Given the description of an element on the screen output the (x, y) to click on. 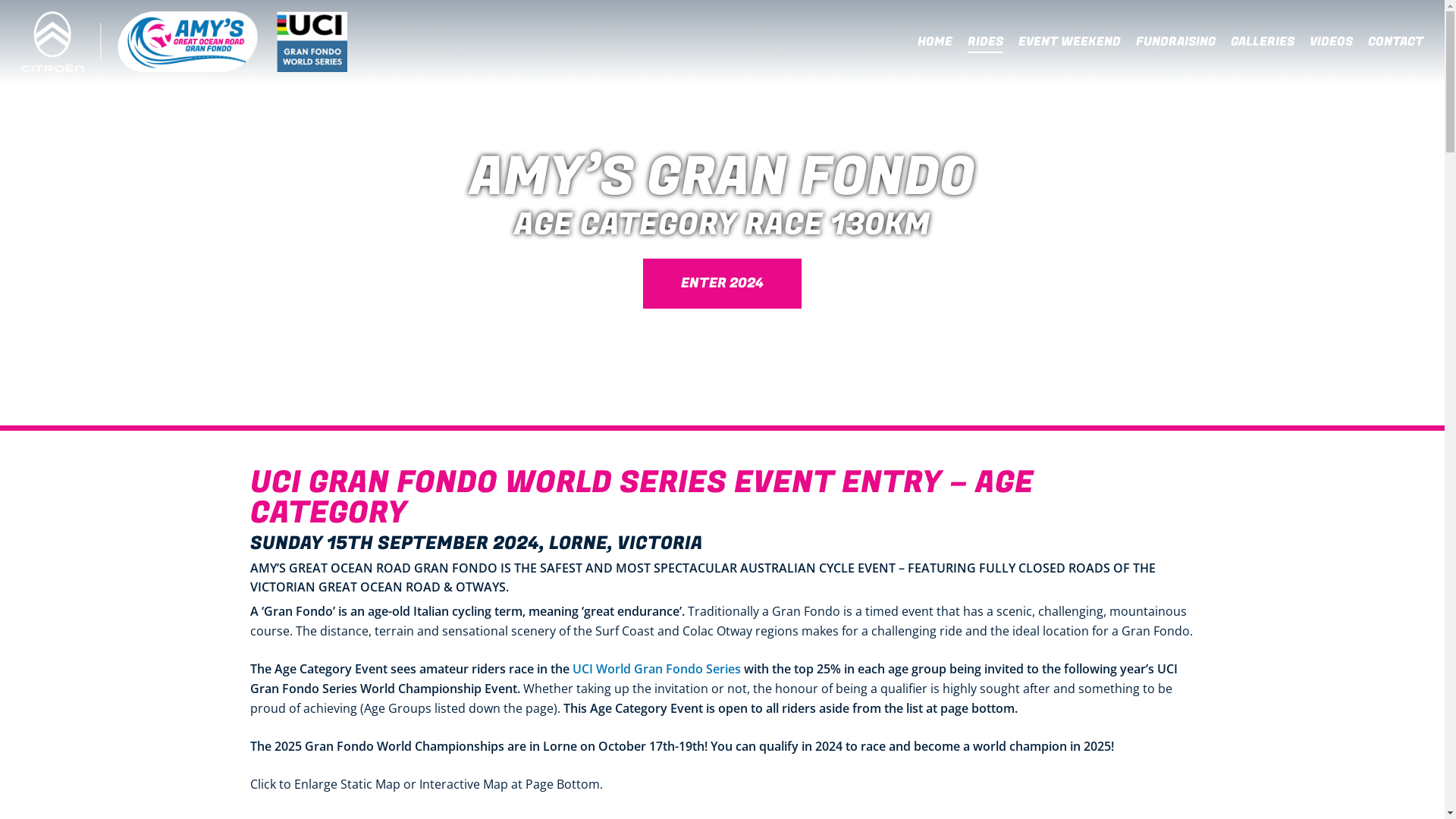
FUNDRAISING Element type: text (1175, 41)
RIDES Element type: text (985, 41)
ENTER 2024 Element type: text (722, 283)
HOME Element type: text (934, 41)
VIDEOS Element type: text (1330, 41)
UCI World Gran Fondo Series Element type: text (656, 668)
GALLERIES Element type: text (1262, 41)
CONTACT Element type: text (1395, 41)
EVENT WEEKEND Element type: text (1069, 41)
